Given the description of an element on the screen output the (x, y) to click on. 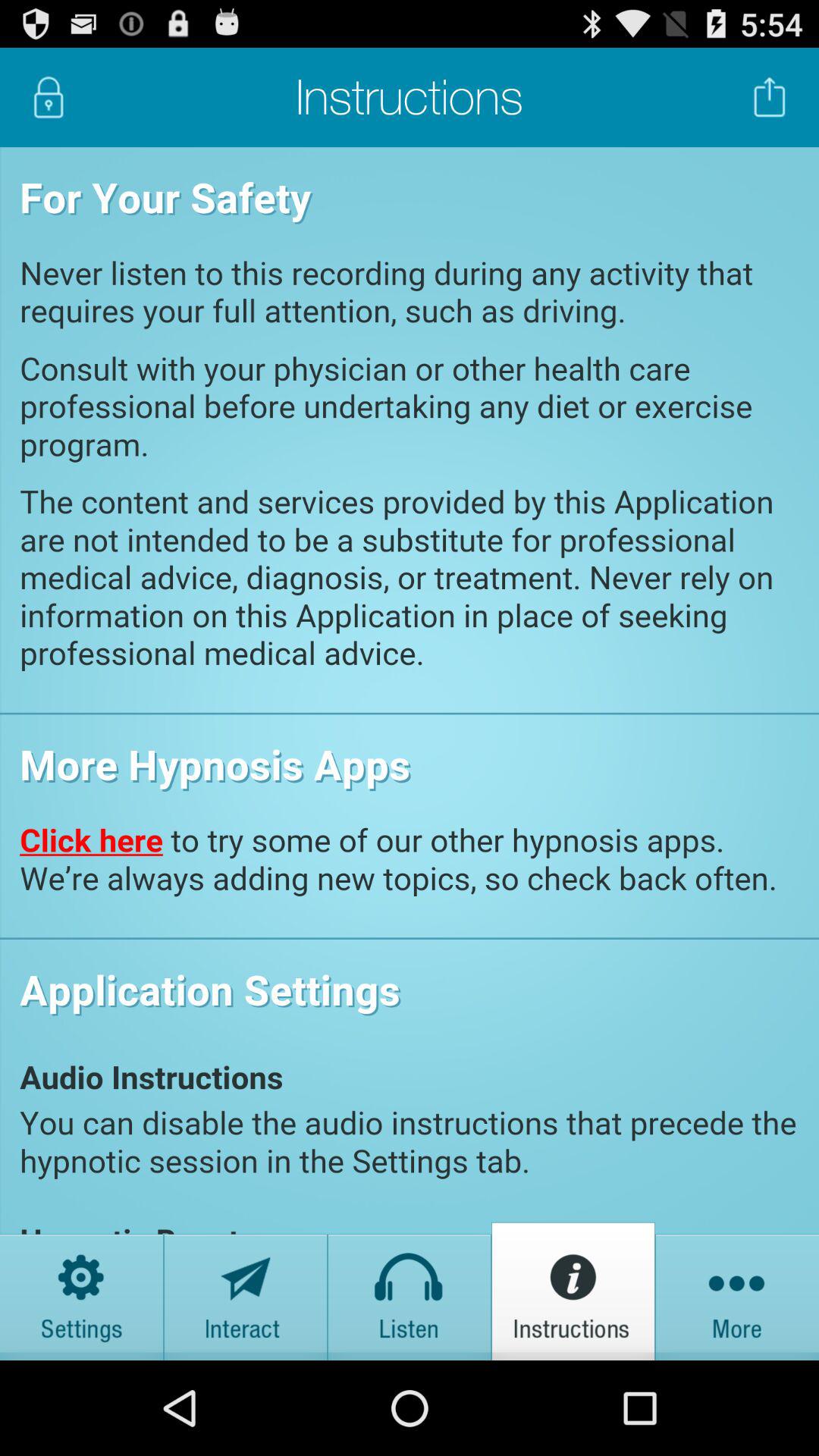
go to meanu option (737, 1290)
